Given the description of an element on the screen output the (x, y) to click on. 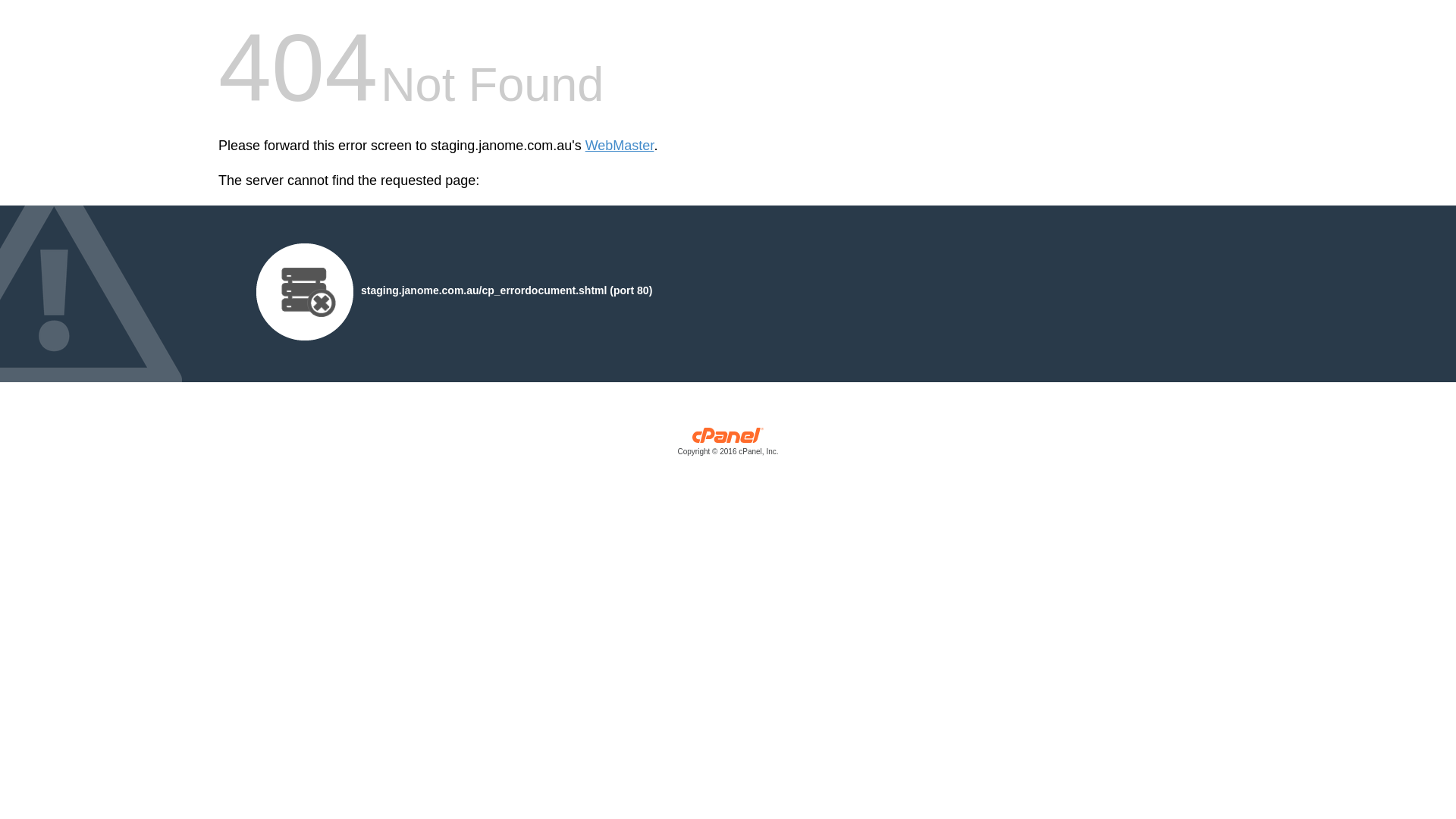
WebMaster Element type: text (619, 145)
